Given the description of an element on the screen output the (x, y) to click on. 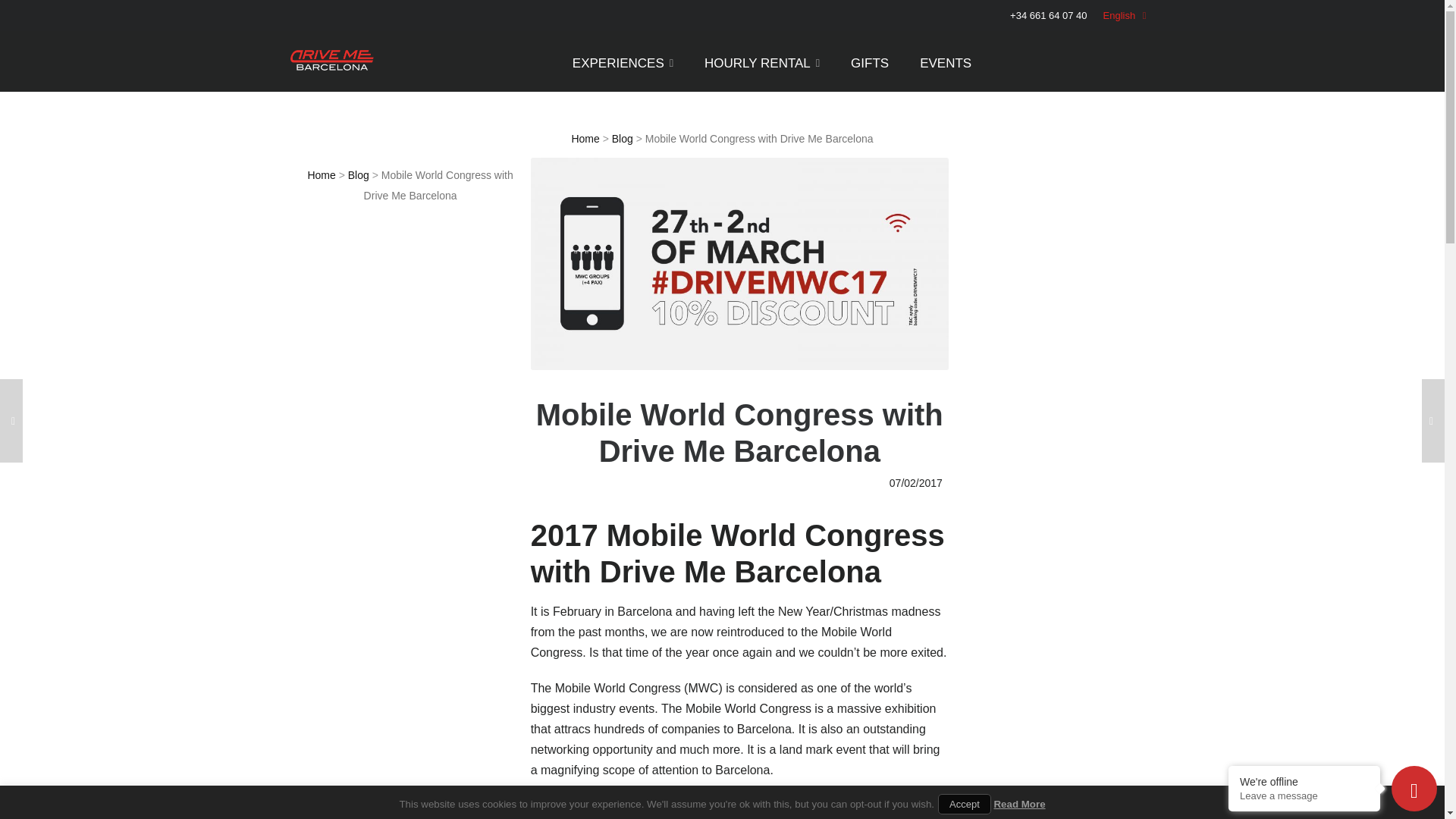
We're offline (1304, 781)
Leave a message (1304, 795)
